Given the description of an element on the screen output the (x, y) to click on. 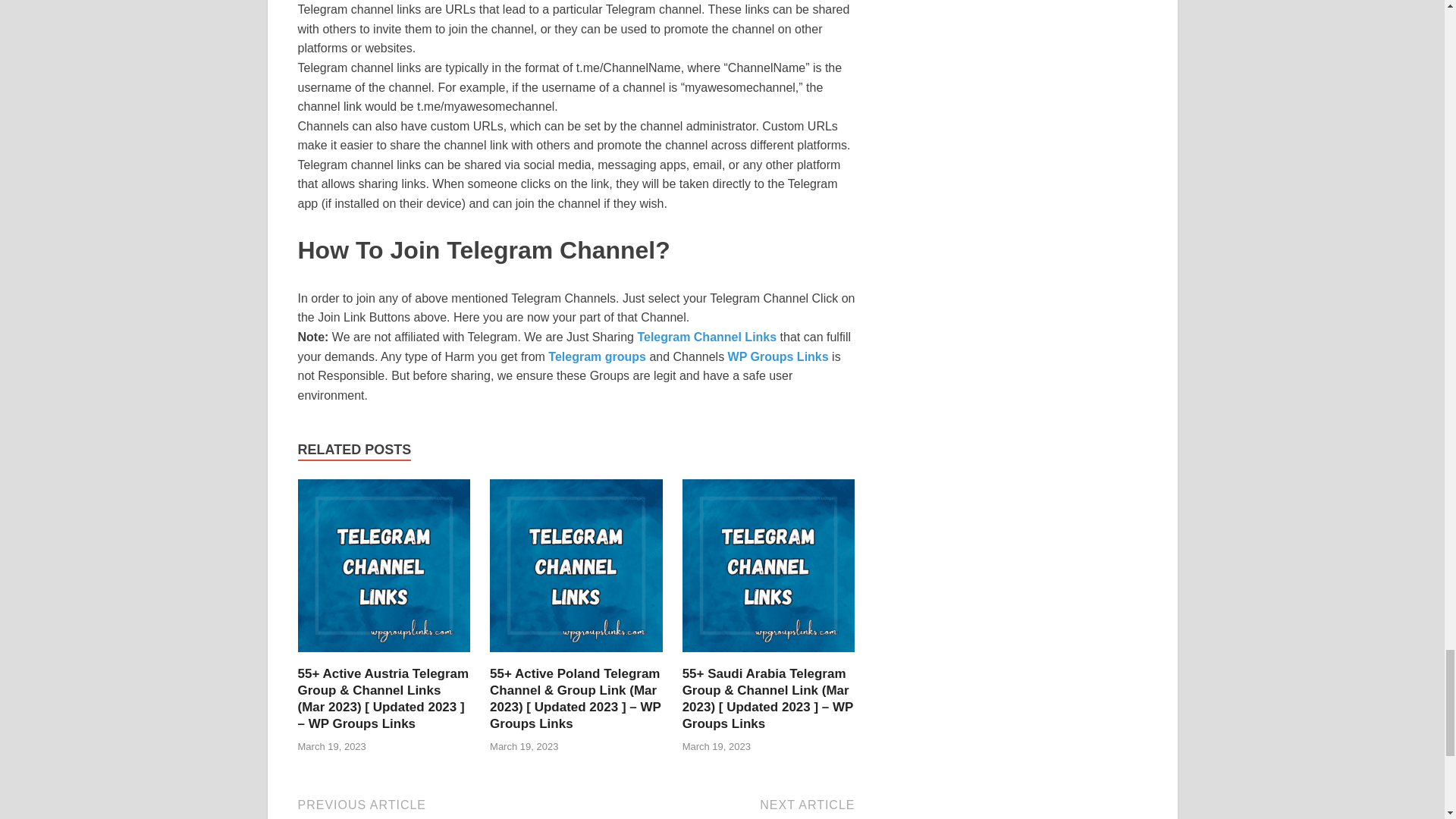
WP Groups Links (778, 356)
Telegram groups (597, 356)
Telegram Channel Links (706, 336)
